Given the description of an element on the screen output the (x, y) to click on. 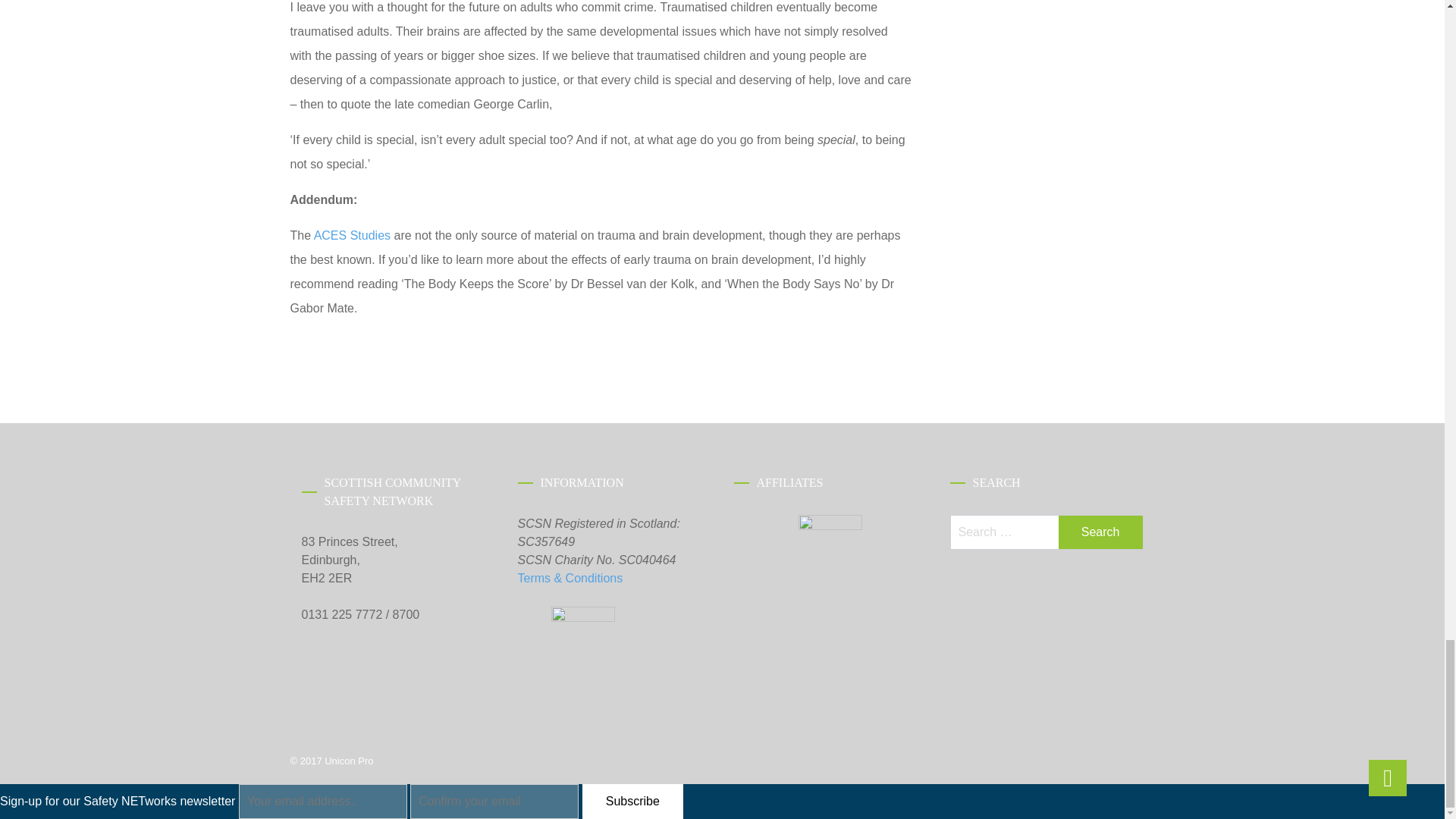
Search (1100, 531)
Search (1100, 531)
Subscribe (632, 800)
